Given the description of an element on the screen output the (x, y) to click on. 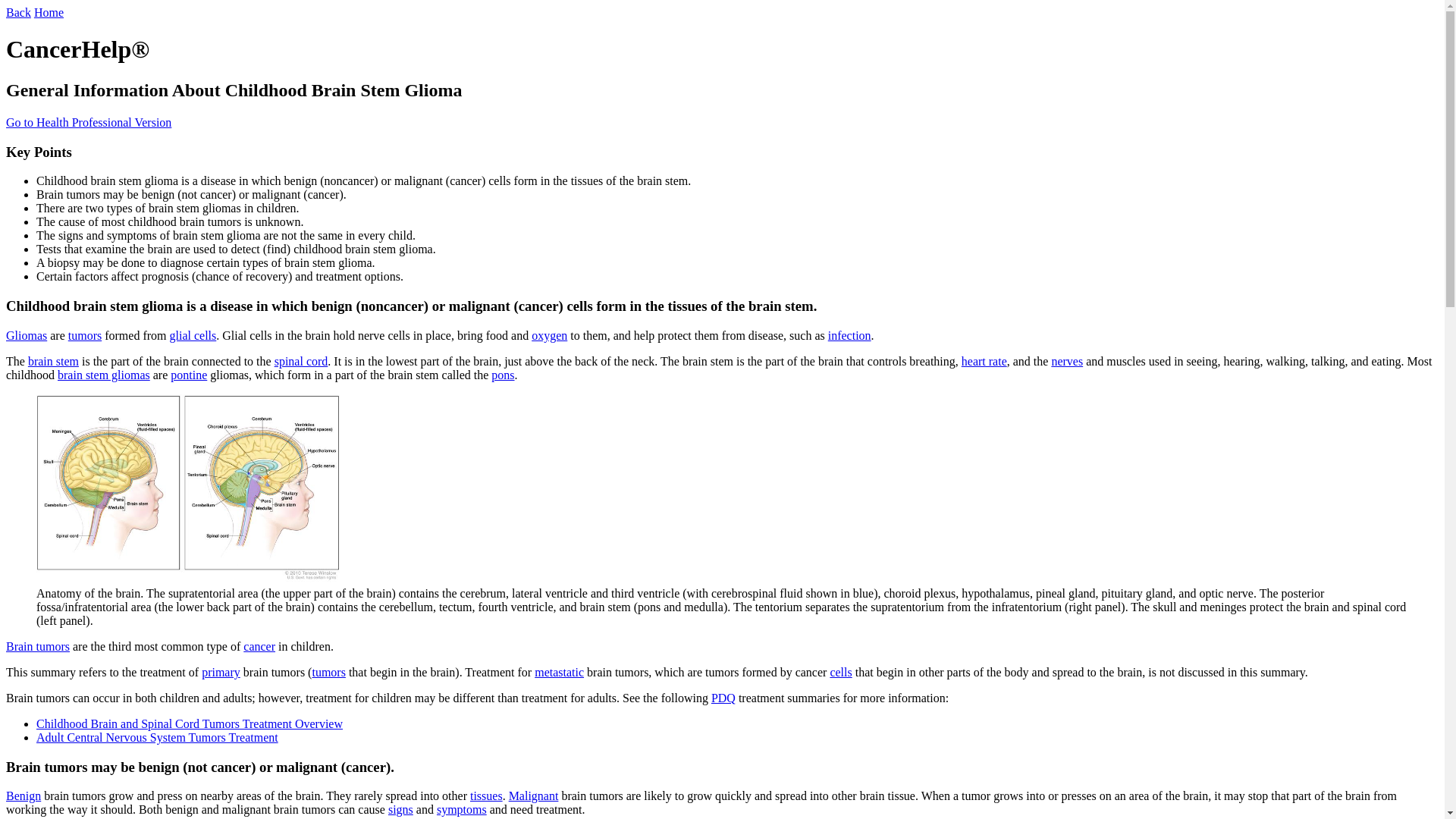
tissues (486, 795)
Malignant (533, 795)
Childhood Brain and Spinal Cord Tumors Treatment Overview (189, 723)
Benign (22, 795)
cells (840, 671)
heart rate (983, 360)
pons (502, 374)
Adult Central Nervous System Tumors Treatment (157, 737)
Brain tumors (37, 645)
tumors (84, 335)
